Given the description of an element on the screen output the (x, y) to click on. 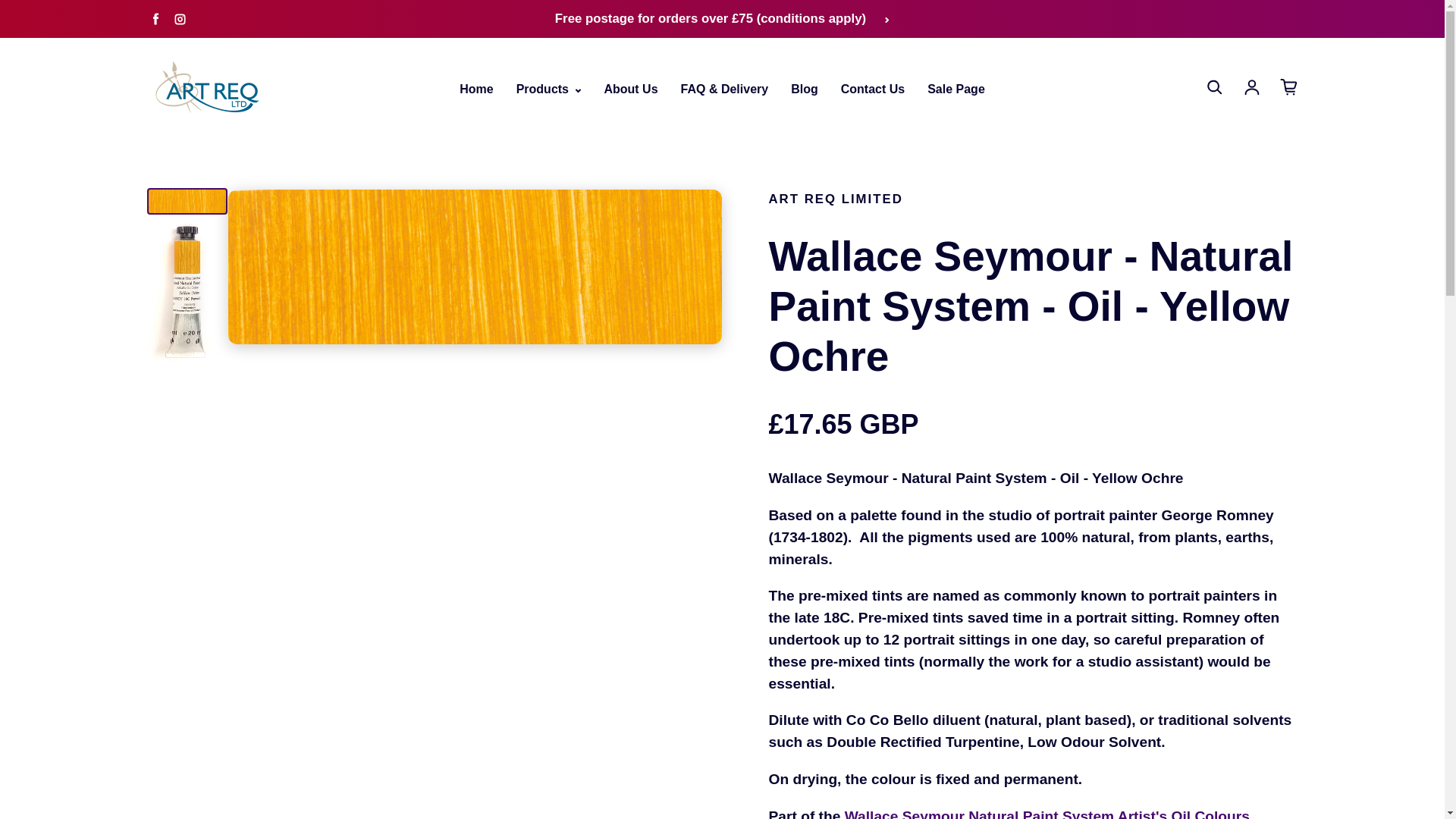
Log in (1251, 86)
Instagram (179, 18)
Products (548, 89)
Blog (804, 89)
Sale Page (956, 89)
Home (476, 89)
Wallace Seymour Natural Paint System Oil Colours (1046, 813)
Contact Us (872, 89)
About Us (631, 89)
Facebook (154, 18)
